Given the description of an element on the screen output the (x, y) to click on. 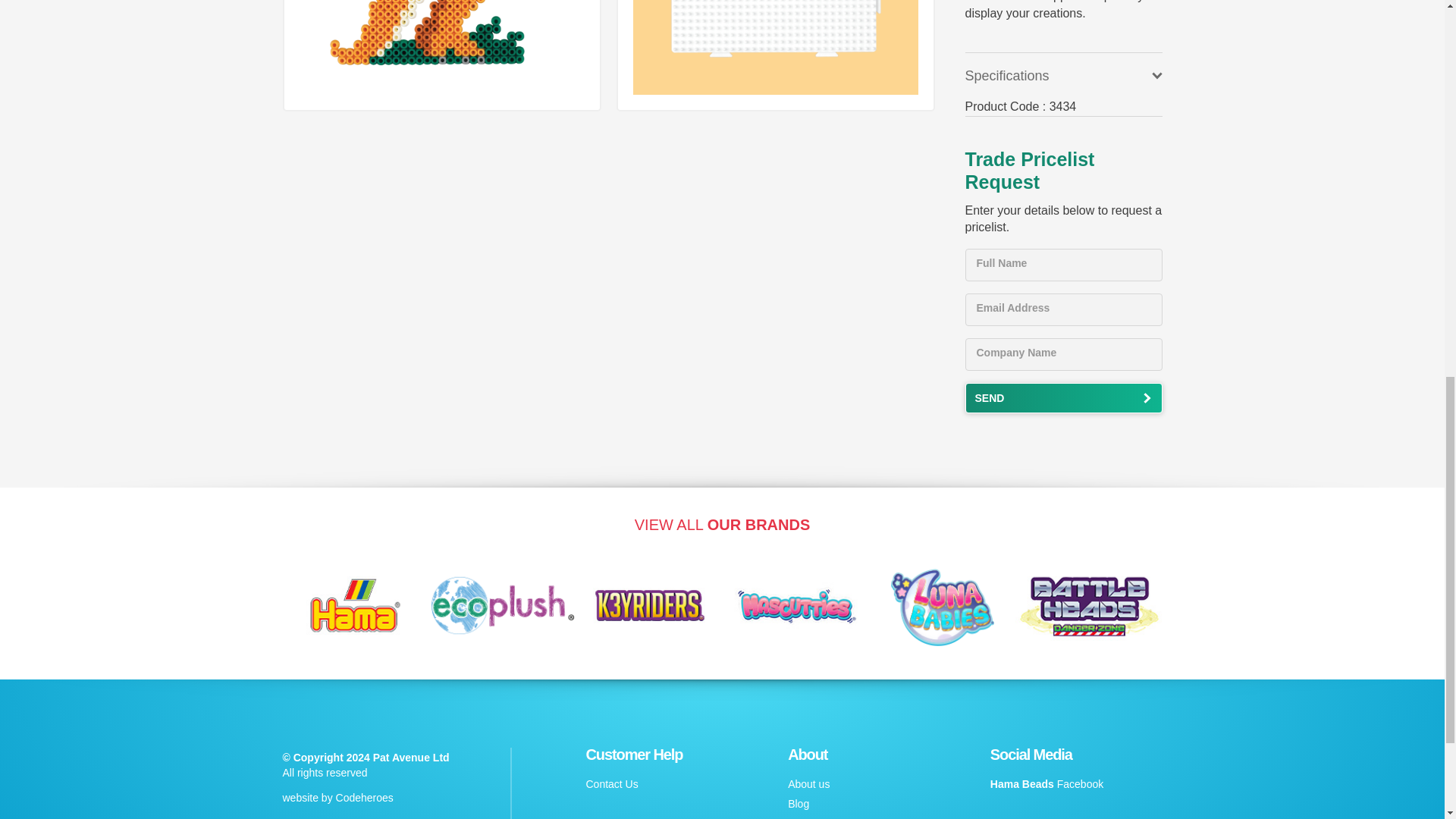
Shop Hama Beads (355, 554)
Cookie Policy (819, 818)
Specifications (1062, 75)
Contact Us (611, 784)
Blog (798, 803)
About us (808, 784)
SEND (1062, 398)
